Given the description of an element on the screen output the (x, y) to click on. 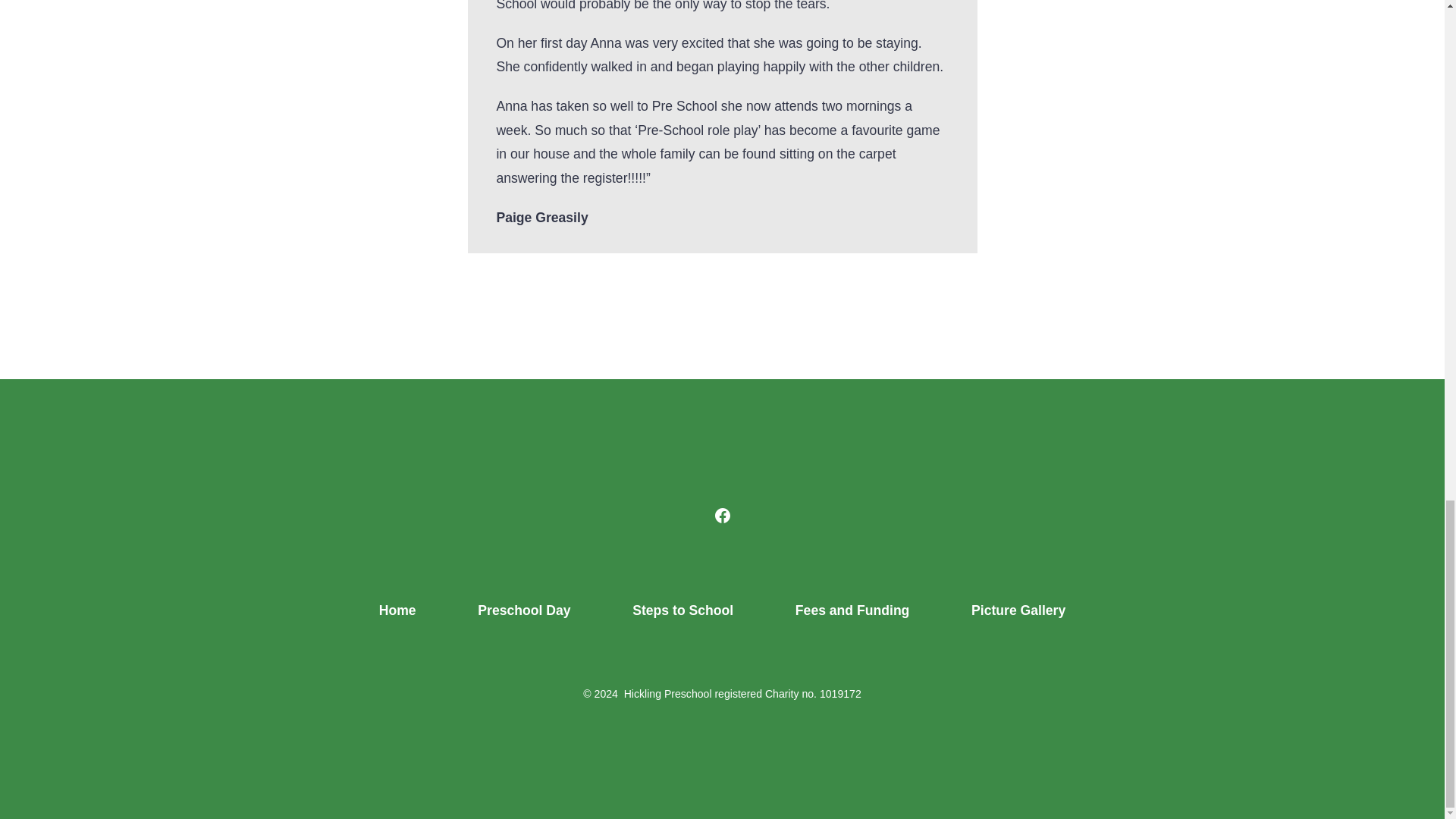
Open Facebook in a new tab (721, 515)
Steps to School (683, 611)
Home (397, 611)
Fees and Funding (851, 611)
Preschool Day (523, 611)
Picture Gallery (1018, 611)
